Given the description of an element on the screen output the (x, y) to click on. 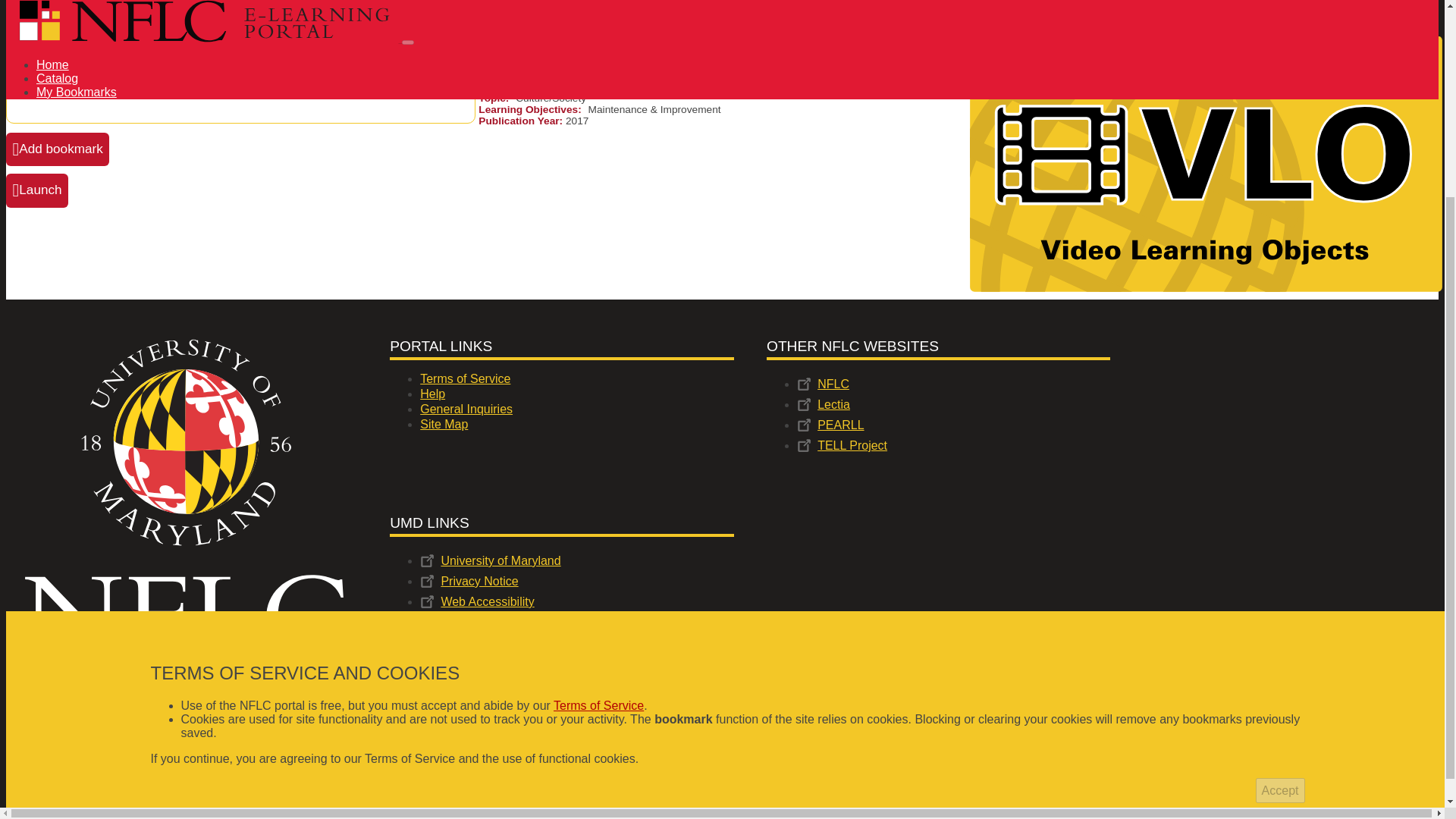
Help (576, 394)
Launch (36, 190)
Add this lesson to your bookmarks (57, 149)
Terms of Service (598, 445)
Add bookmark (57, 149)
General Inquiries (576, 409)
Accept (1279, 530)
Image (184, 503)
Terms of Service (576, 379)
Site Map (576, 425)
